Given the description of an element on the screen output the (x, y) to click on. 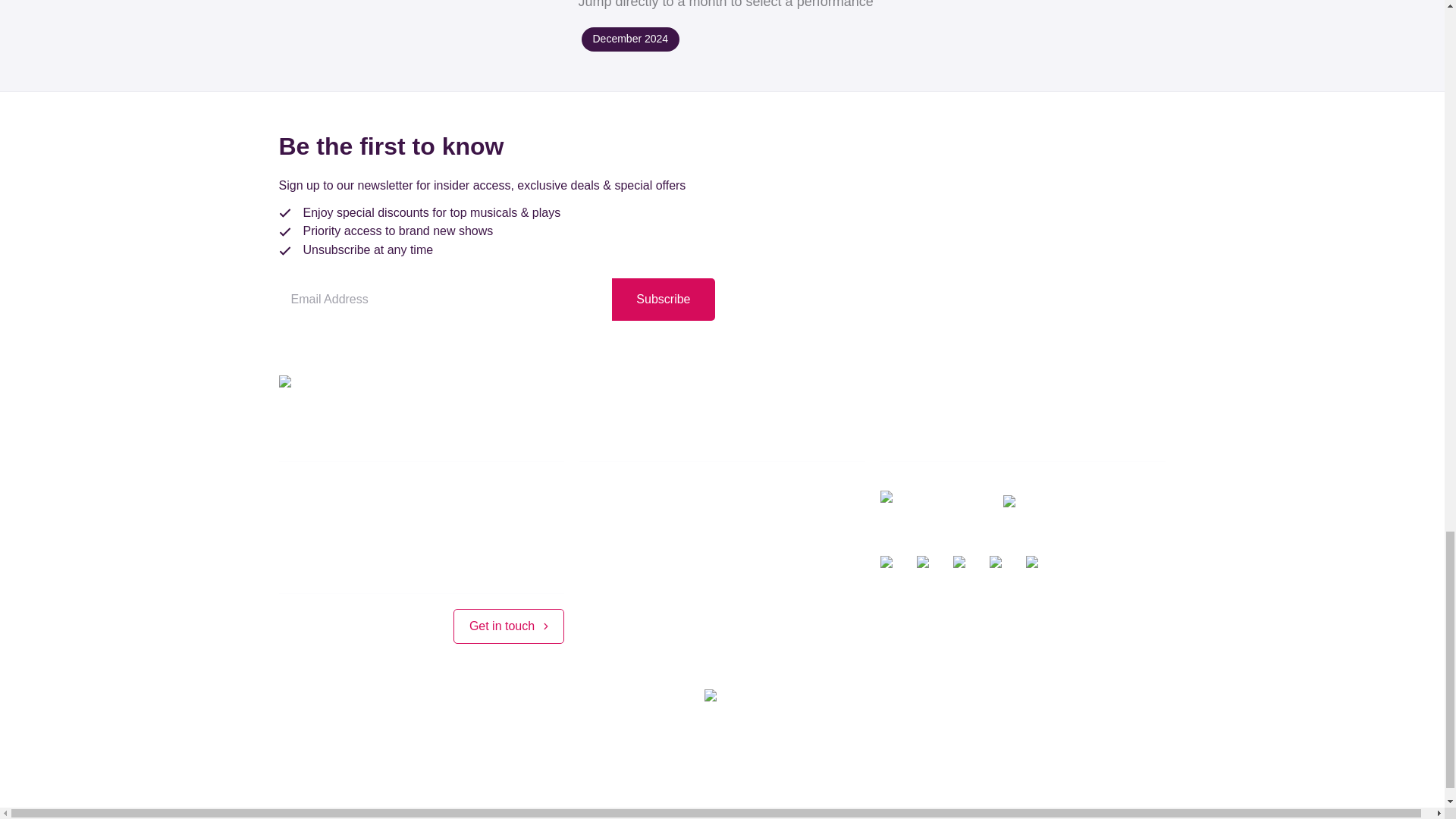
Stagecoach Theatre (674, 757)
Trafalgar Entertainment (533, 757)
Trafalgar Theatre (927, 757)
Sunday 2024 (629, 39)
Trafalgar Releasing (804, 757)
